Given the description of an element on the screen output the (x, y) to click on. 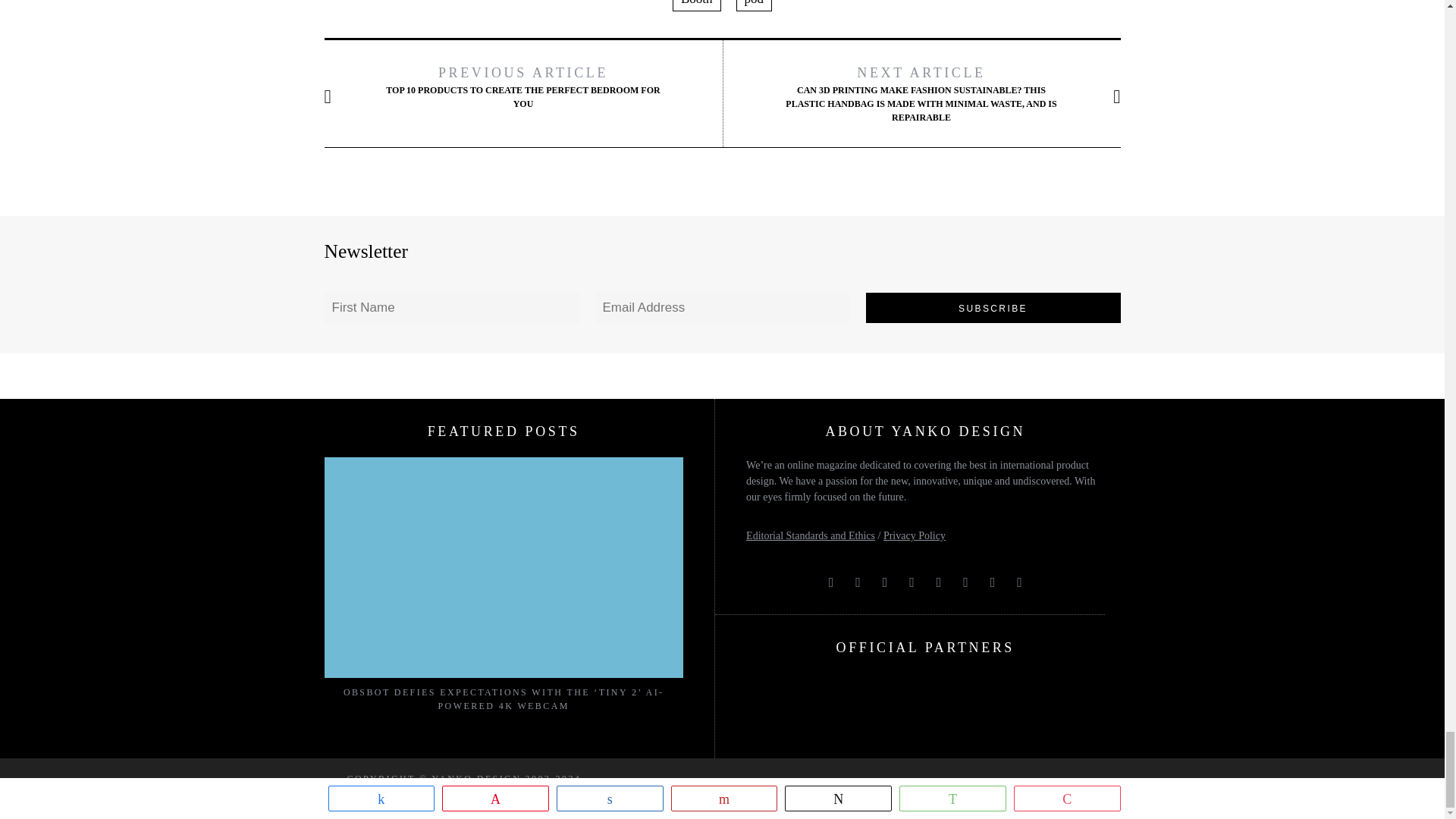
Editorial Standards and Ethics (810, 535)
Subscribe (993, 307)
Privacy Policy (913, 535)
